Given the description of an element on the screen output the (x, y) to click on. 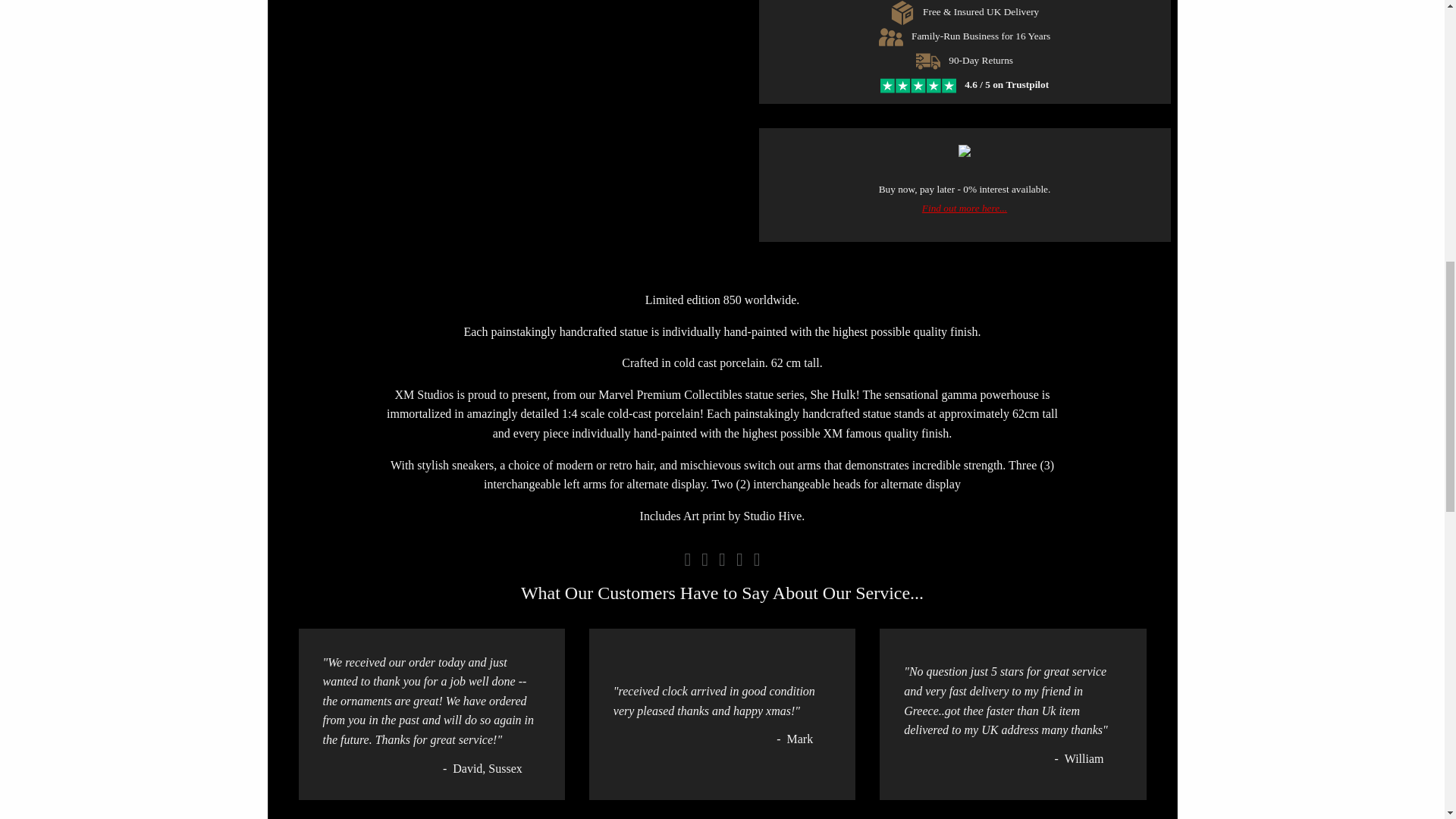
Share via Email (689, 559)
Share via Pinterest (742, 559)
Send via Whatsapp (756, 559)
Share via Facebook (707, 559)
Tweet this page (724, 559)
